Given the description of an element on the screen output the (x, y) to click on. 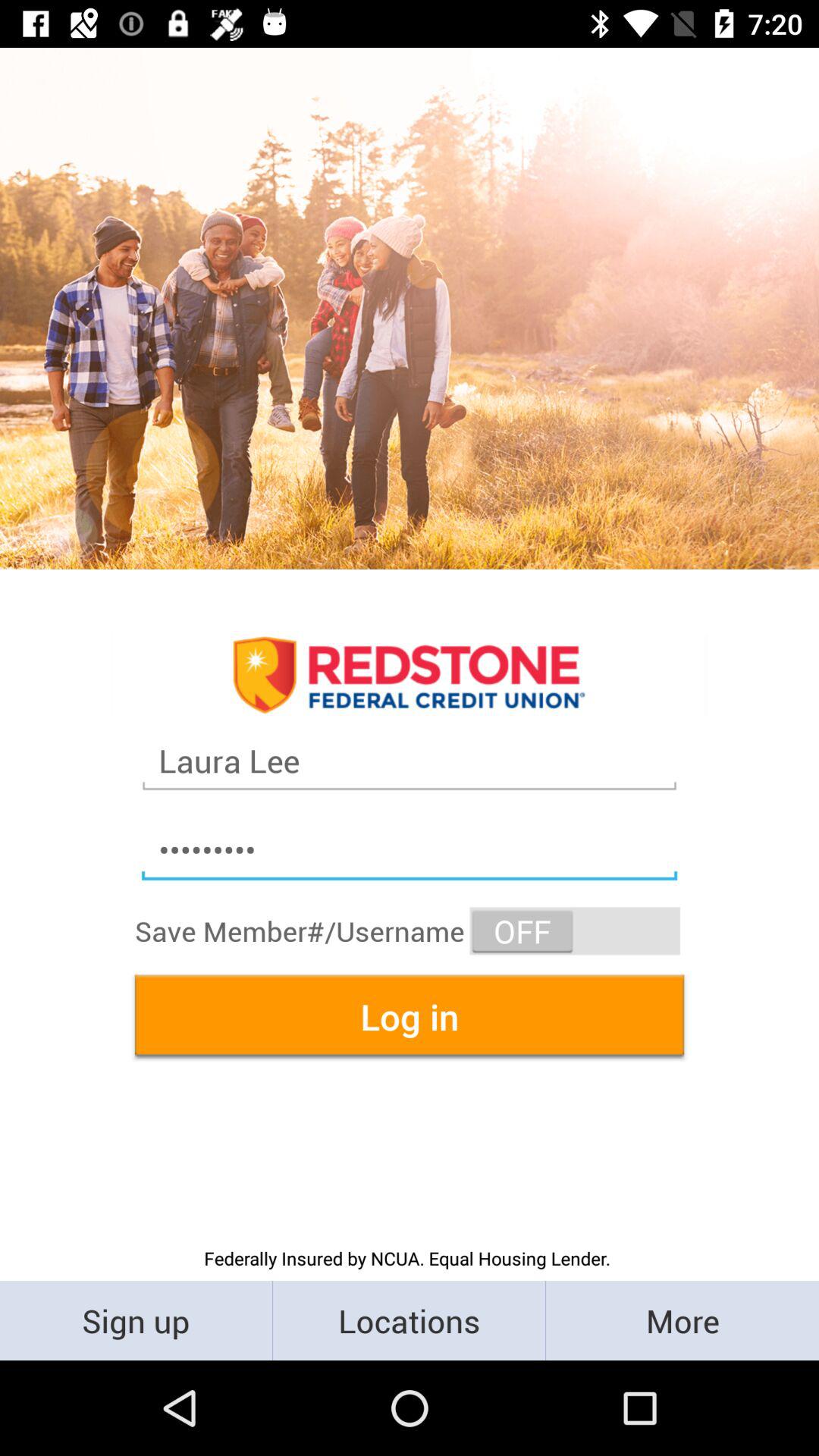
launch the item above log in item (574, 930)
